Given the description of an element on the screen output the (x, y) to click on. 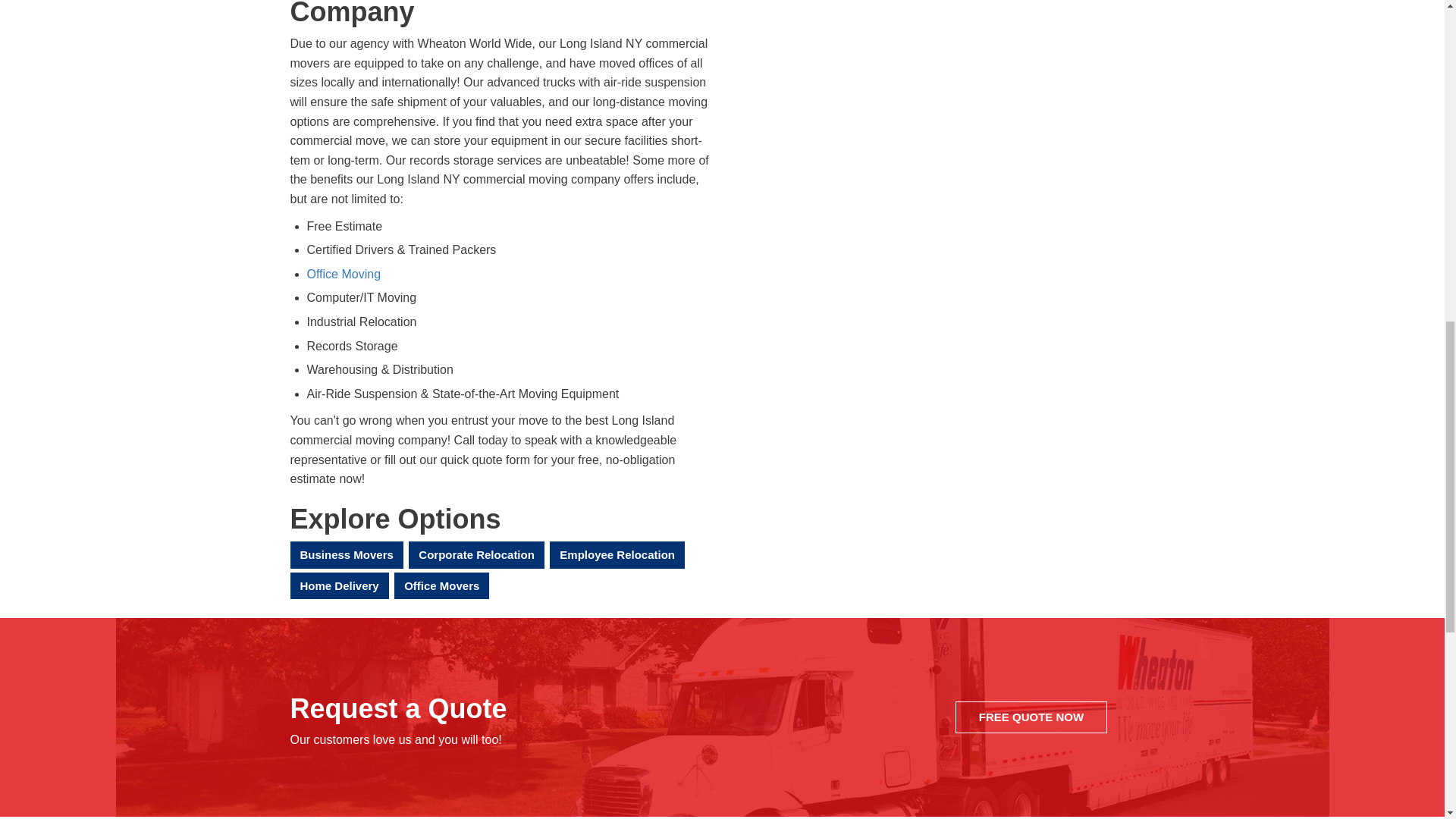
FREE QUOTE NOW (1030, 717)
